Given the description of an element on the screen output the (x, y) to click on. 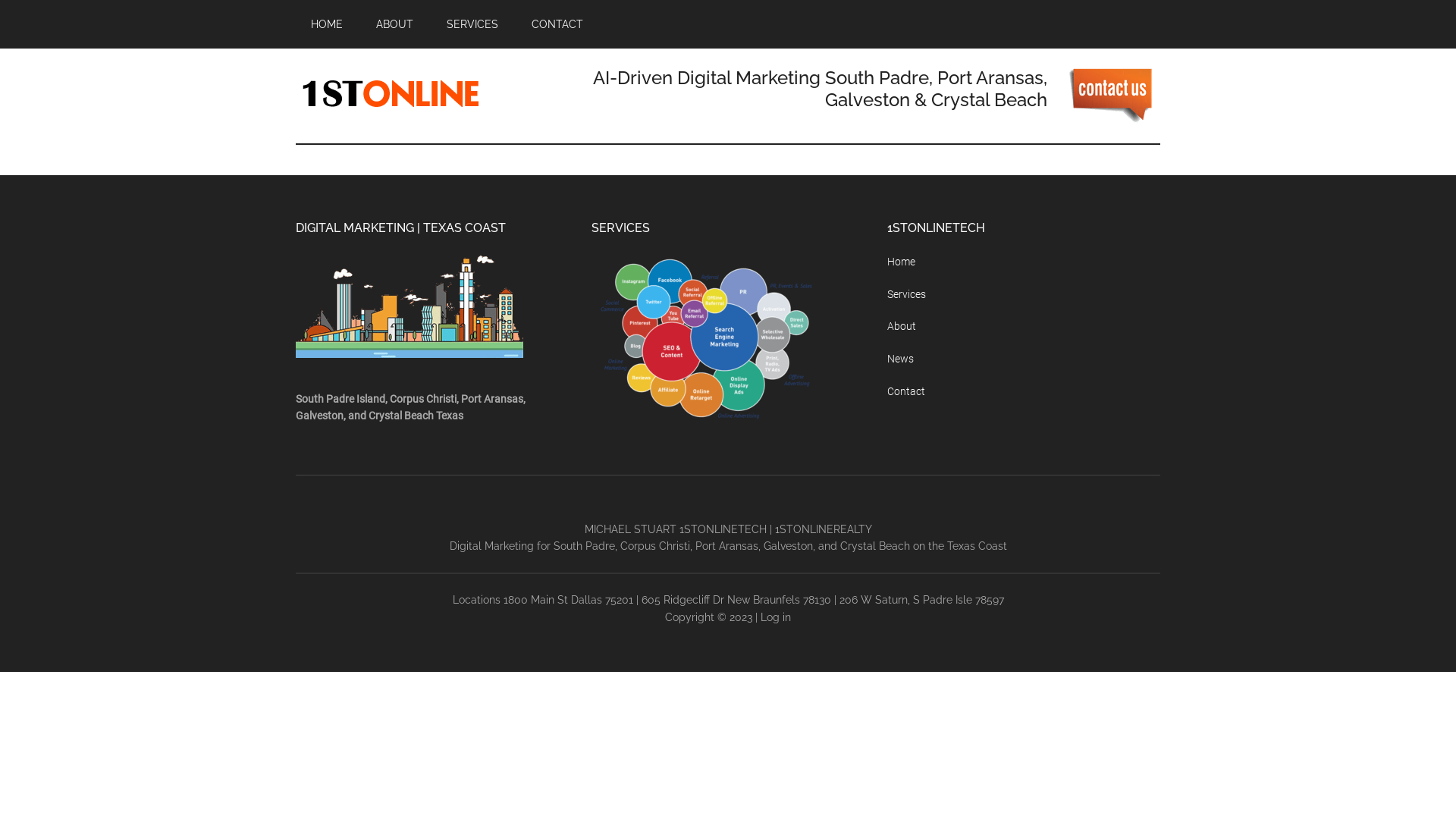
Home Element type: text (901, 261)
News Element type: text (900, 358)
SERVICES Element type: text (472, 24)
ABOUT Element type: text (394, 24)
CONTACT Element type: text (557, 24)
About Element type: text (901, 326)
Contact Element type: text (906, 391)
HOME Element type: text (326, 24)
Log in Element type: text (775, 617)
Skip to main content Element type: text (0, 0)
Services Element type: text (906, 294)
